Given the description of an element on the screen output the (x, y) to click on. 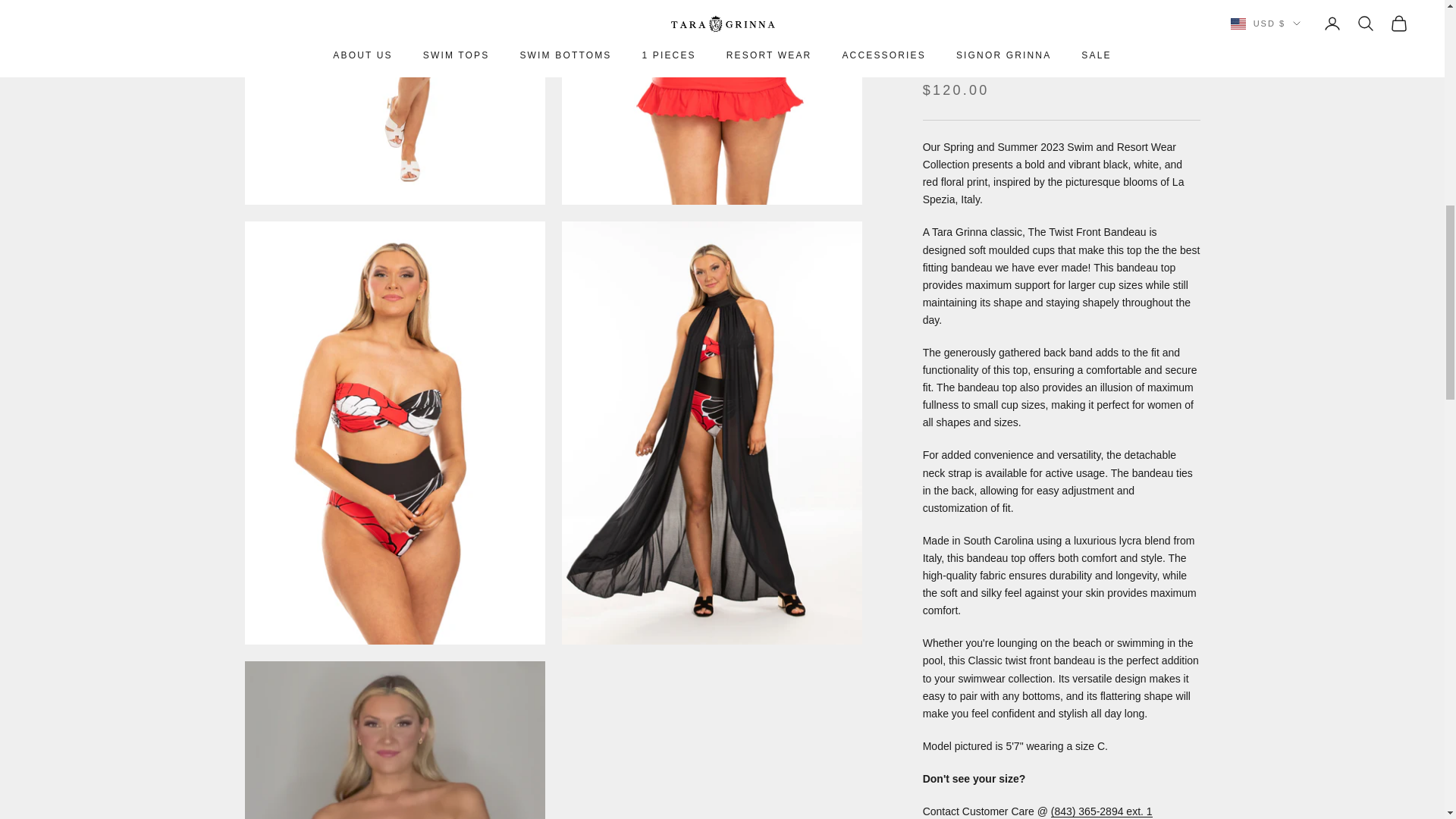
1 (971, 304)
